Given the description of an element on the screen output the (x, y) to click on. 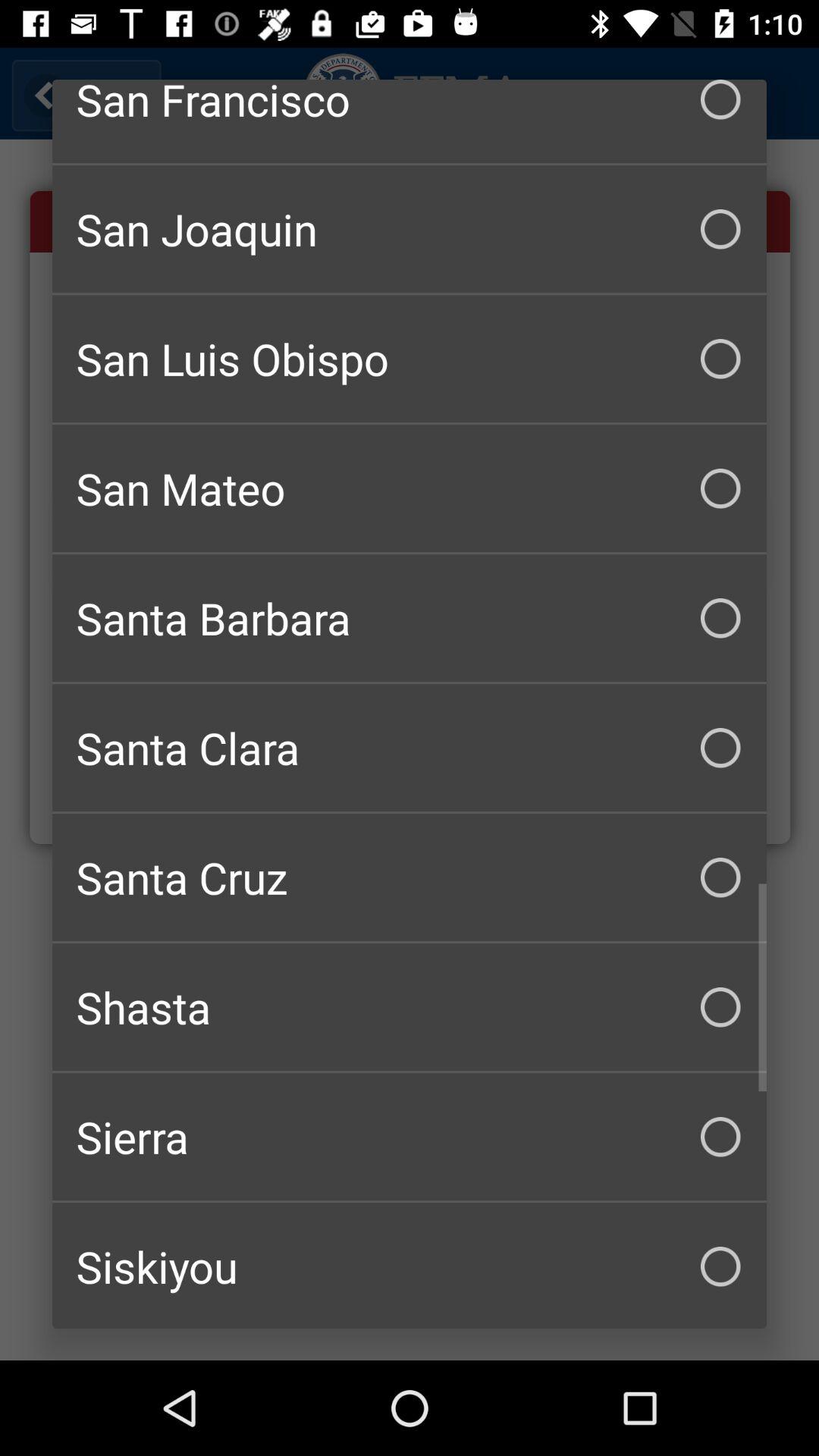
press item below santa barbara item (409, 747)
